Given the description of an element on the screen output the (x, y) to click on. 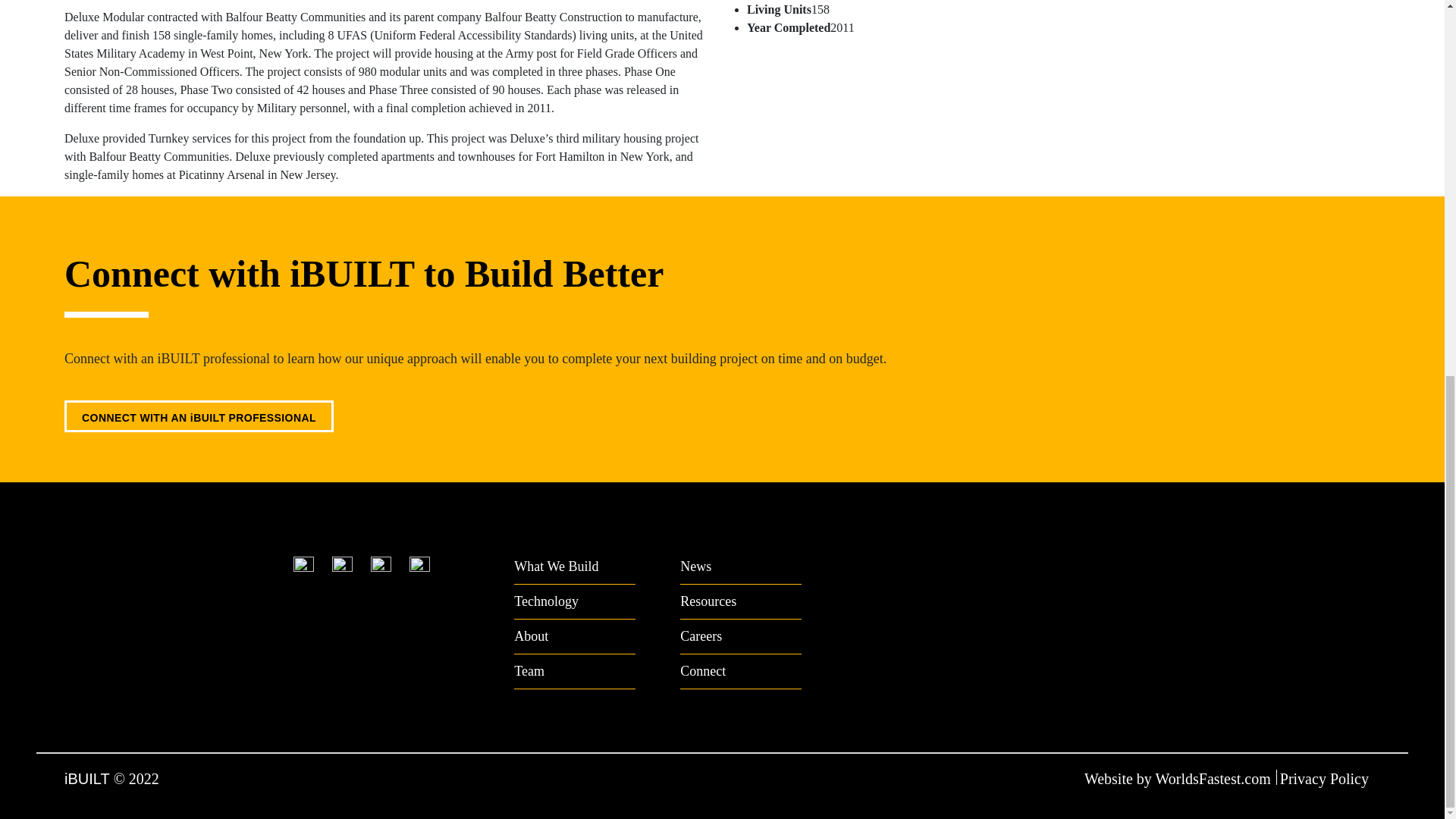
Connect (740, 671)
Careers (740, 636)
Technology (573, 601)
Team (573, 671)
Website by WorldsFastest.com (1178, 778)
CONNECT WITH AN iBUILT PROFESSIONAL (198, 416)
iBUILT (87, 778)
News (740, 570)
About (573, 636)
Resources (740, 601)
What We Build (573, 570)
Privacy Policy (1328, 778)
